Given the description of an element on the screen output the (x, y) to click on. 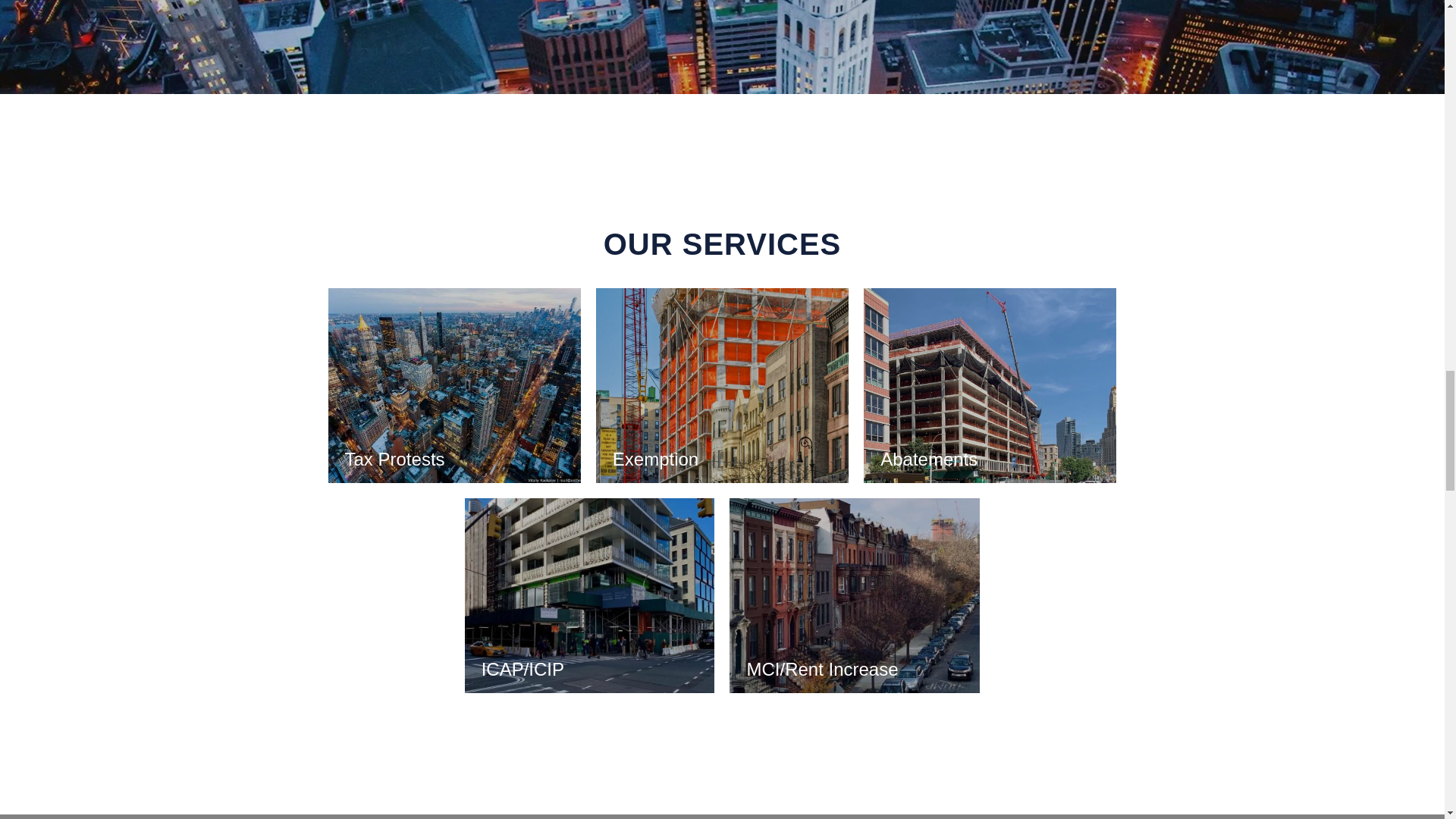
Abatements (989, 385)
Tax Protests (453, 385)
Tax Protests (453, 385)
Exemption (721, 385)
Abatements (989, 385)
Exemption (721, 385)
